Given the description of an element on the screen output the (x, y) to click on. 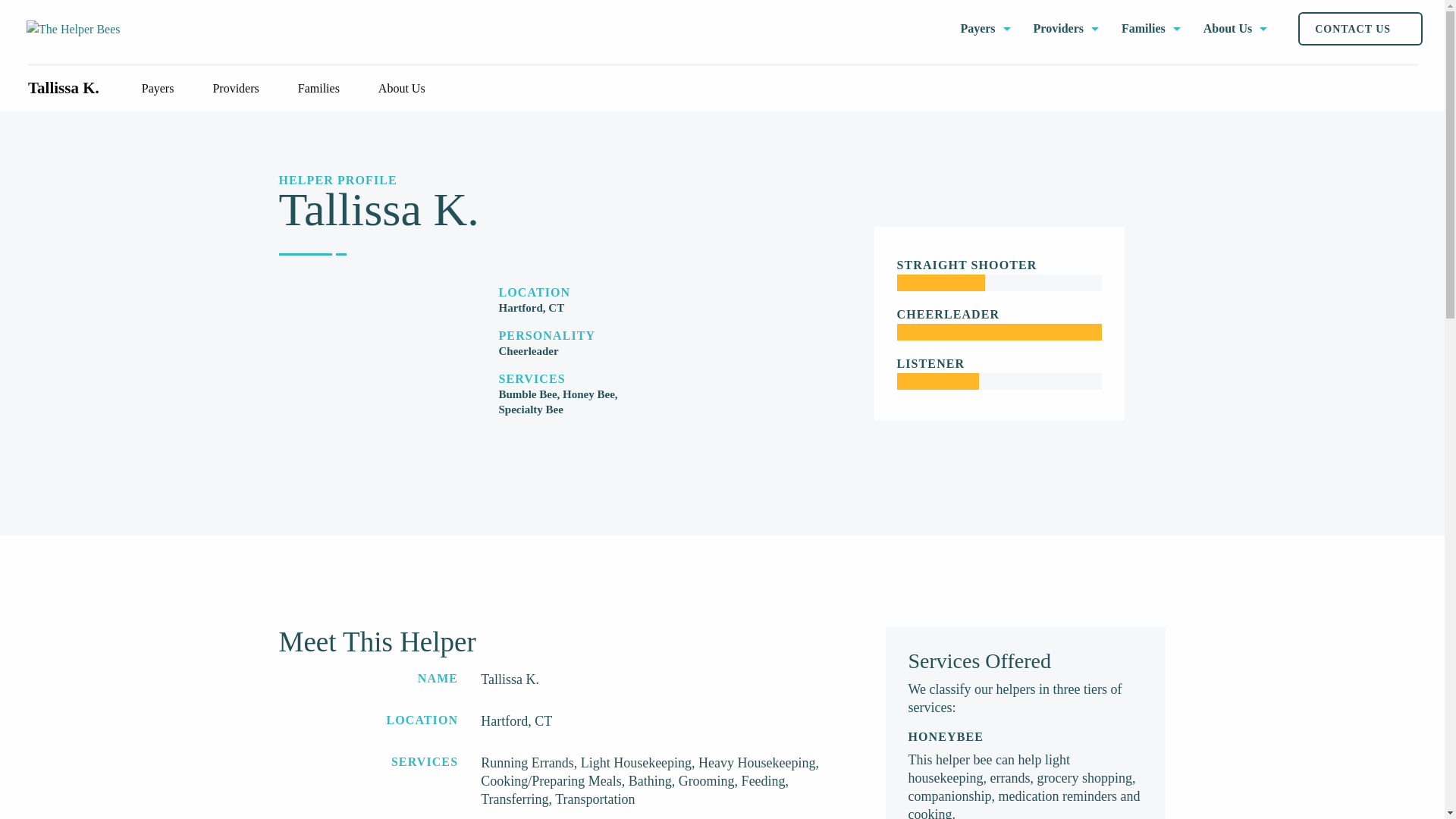
Payers (164, 88)
Providers (1066, 28)
Tallissa K. (63, 88)
CONTACT US (1360, 28)
About Us (1235, 28)
Families (325, 88)
About Us (408, 88)
Payers (984, 28)
Families (1150, 28)
Providers (242, 88)
